Given the description of an element on the screen output the (x, y) to click on. 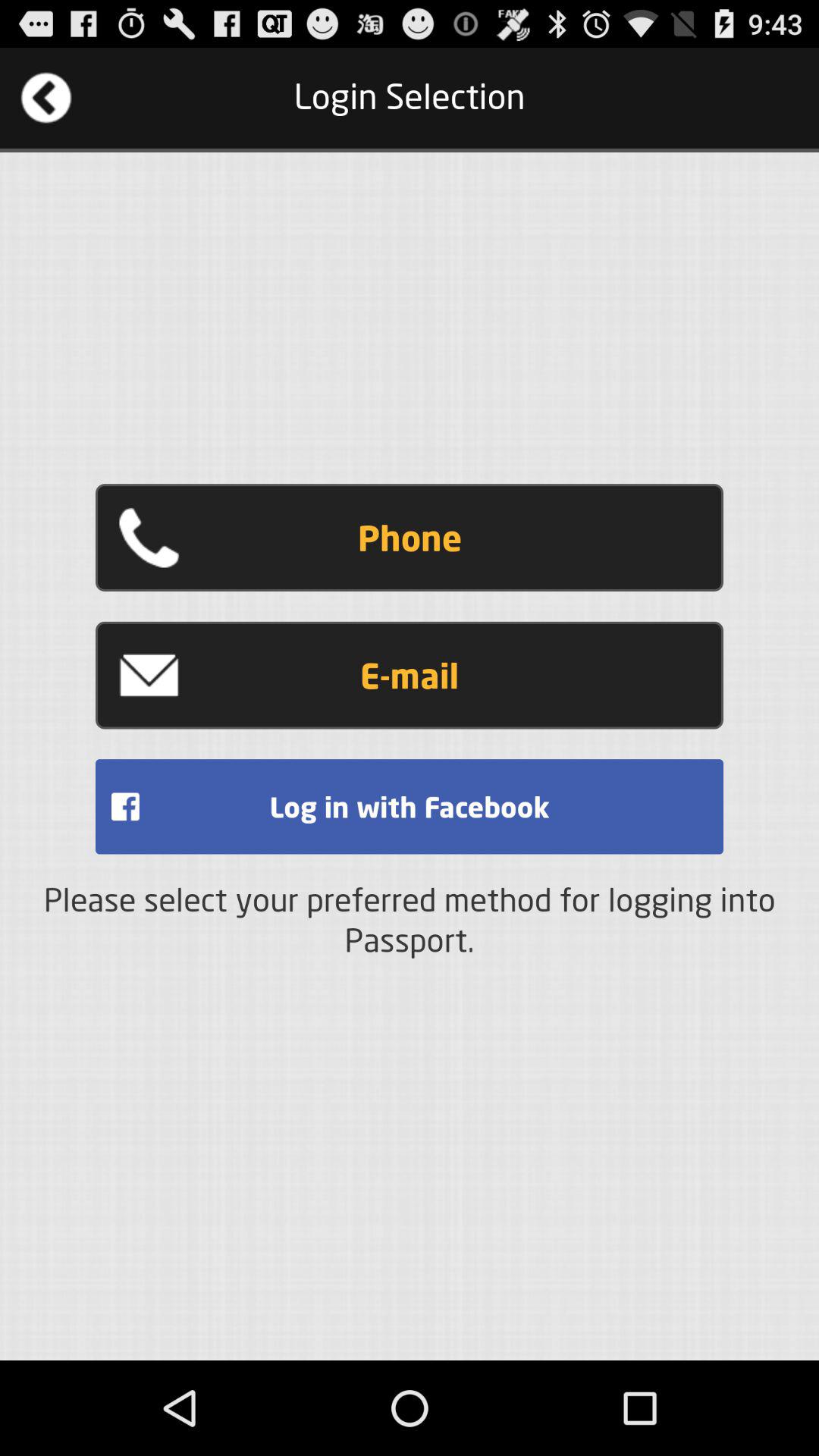
click the item above the log in with item (409, 675)
